Given the description of an element on the screen output the (x, y) to click on. 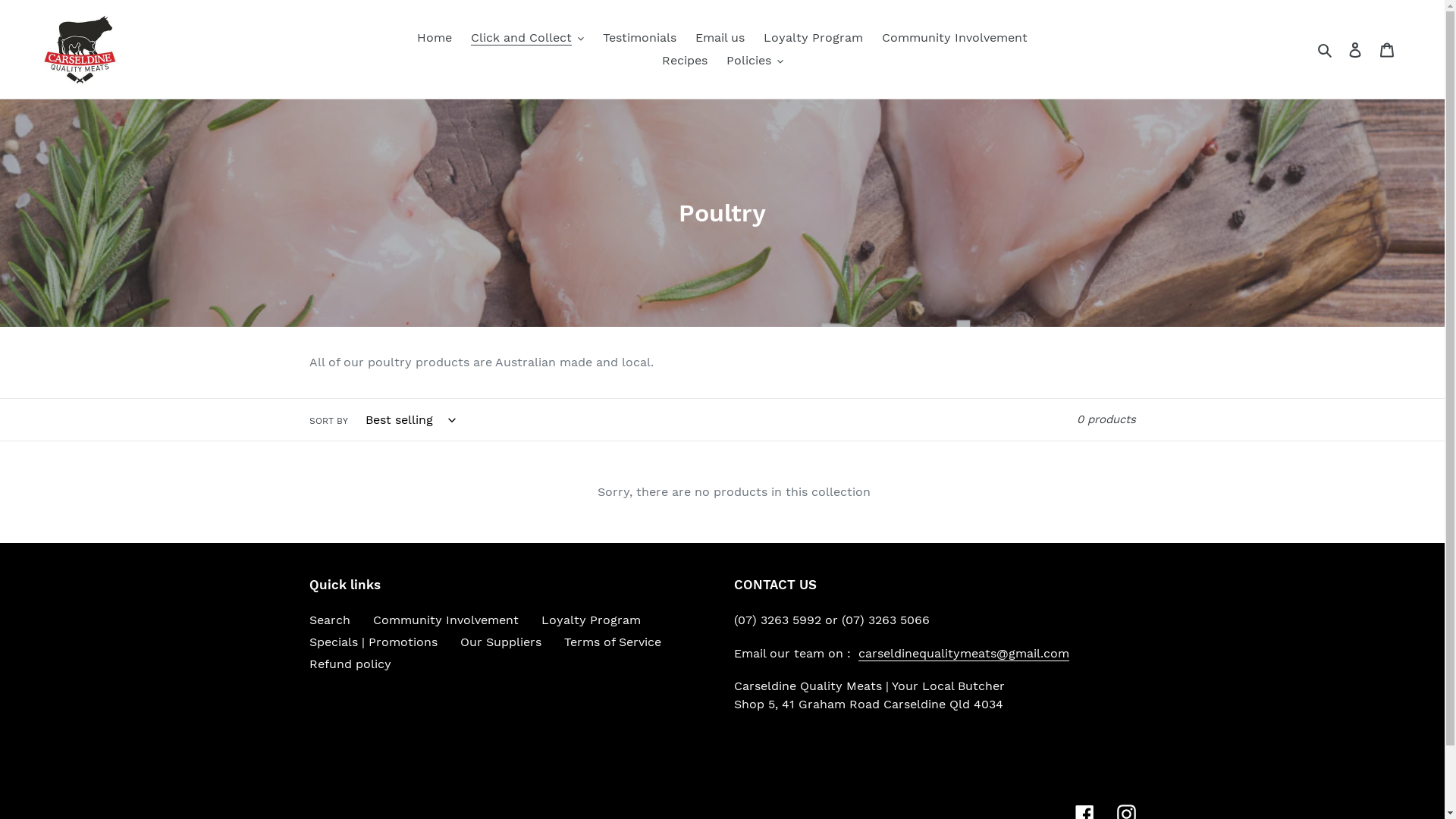
Policies Element type: text (754, 60)
Loyalty Program Element type: text (813, 37)
Click and Collect Element type: text (527, 37)
Specials | Promotions Element type: text (373, 641)
Refund policy Element type: text (350, 663)
Community Involvement Element type: text (445, 619)
Loyalty Program Element type: text (590, 619)
carseldinequalitymeats@gmail.com Element type: text (963, 653)
Cart Element type: text (1386, 48)
Terms of Service Element type: text (612, 641)
Our Suppliers Element type: text (499, 641)
Recipes Element type: text (683, 60)
Log in Element type: text (1355, 48)
Search Element type: text (1325, 49)
Email us Element type: text (719, 37)
Community Involvement Element type: text (954, 37)
Home Element type: text (434, 37)
Search Element type: text (329, 619)
Testimonials Element type: text (639, 37)
